Given the description of an element on the screen output the (x, y) to click on. 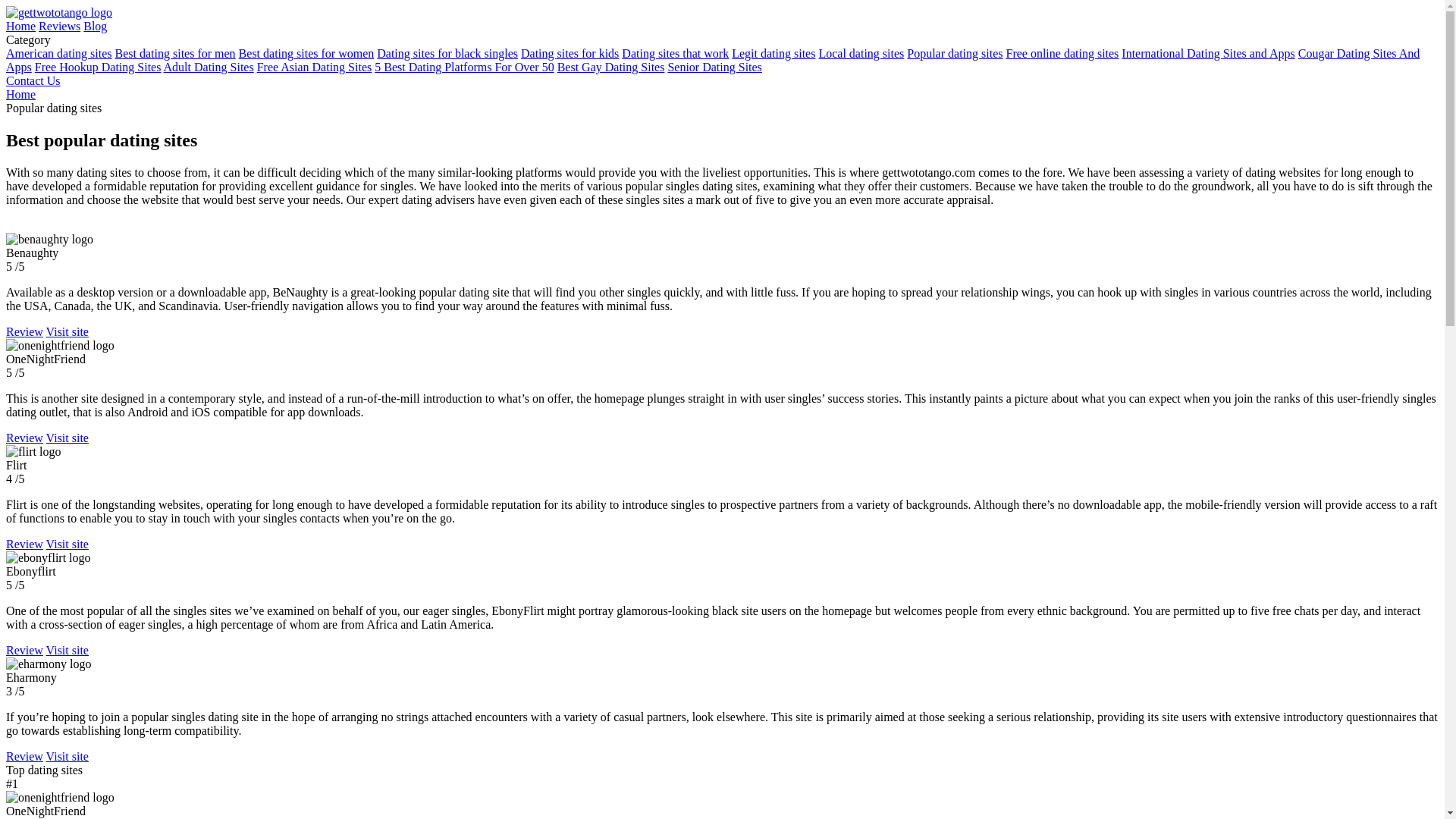
Free online dating sites (1062, 52)
Home (19, 93)
Visit site (67, 437)
Local dating sites (861, 52)
Best dating sites for women (306, 52)
Cougar Dating Sites And Apps (712, 59)
Visit site (67, 649)
Legit dating sites (773, 52)
American dating sites (58, 52)
Free Asian Dating Sites (314, 66)
